Given the description of an element on the screen output the (x, y) to click on. 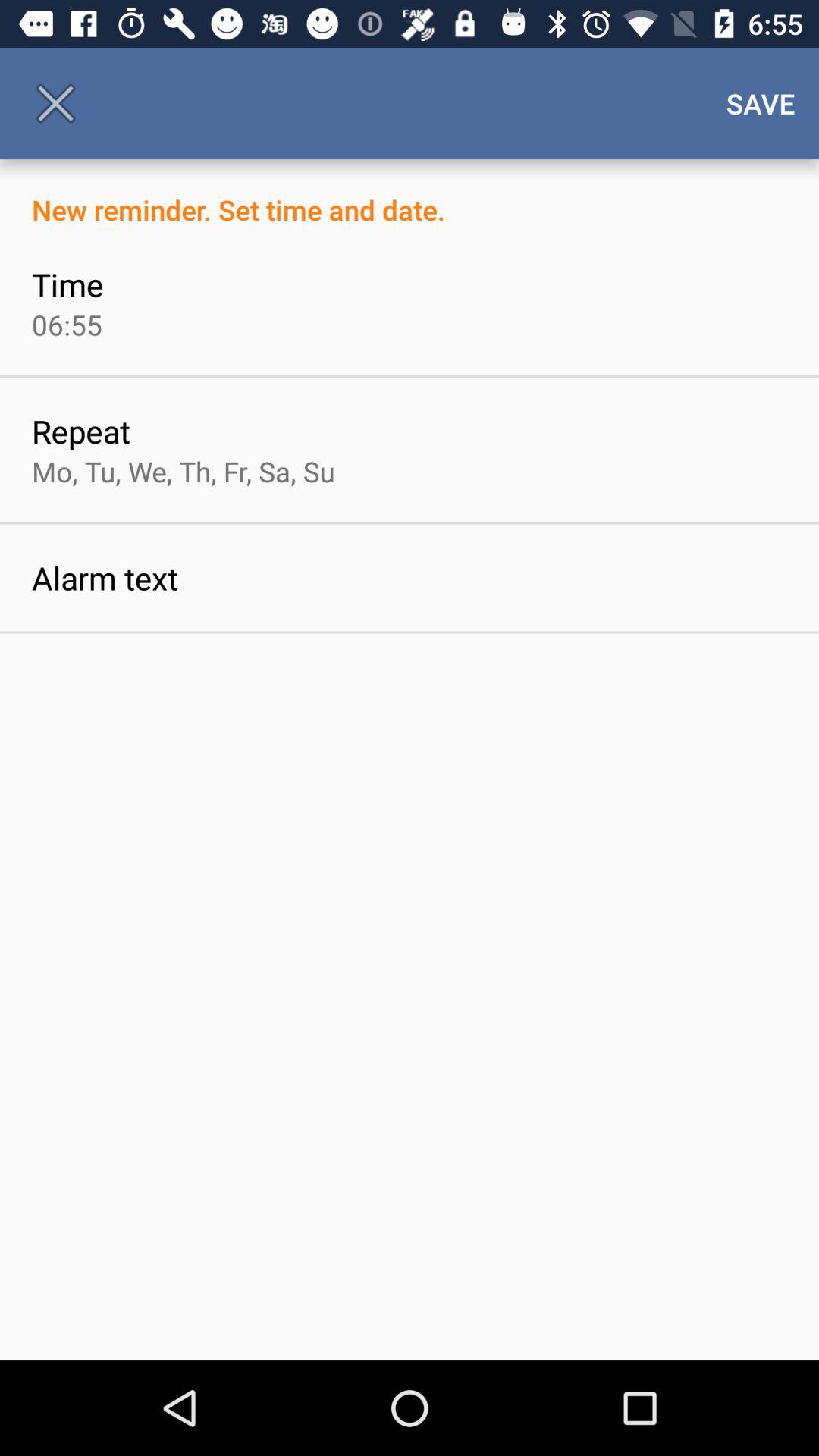
tap alarm text on the left (104, 577)
